Given the description of an element on the screen output the (x, y) to click on. 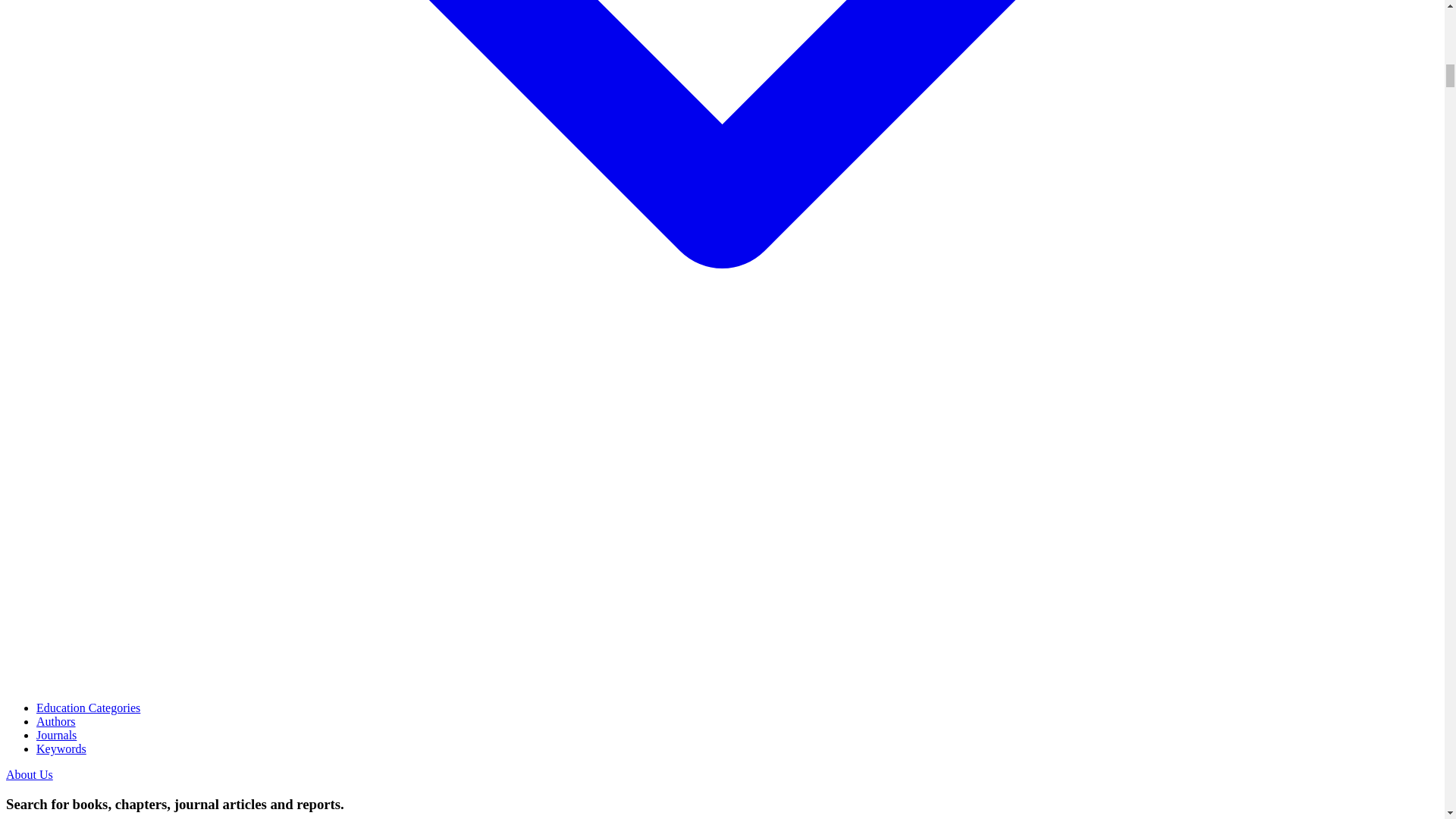
Journals (56, 735)
Education Categories (87, 707)
Keywords (60, 748)
Authors (55, 721)
About Us (28, 774)
